Given the description of an element on the screen output the (x, y) to click on. 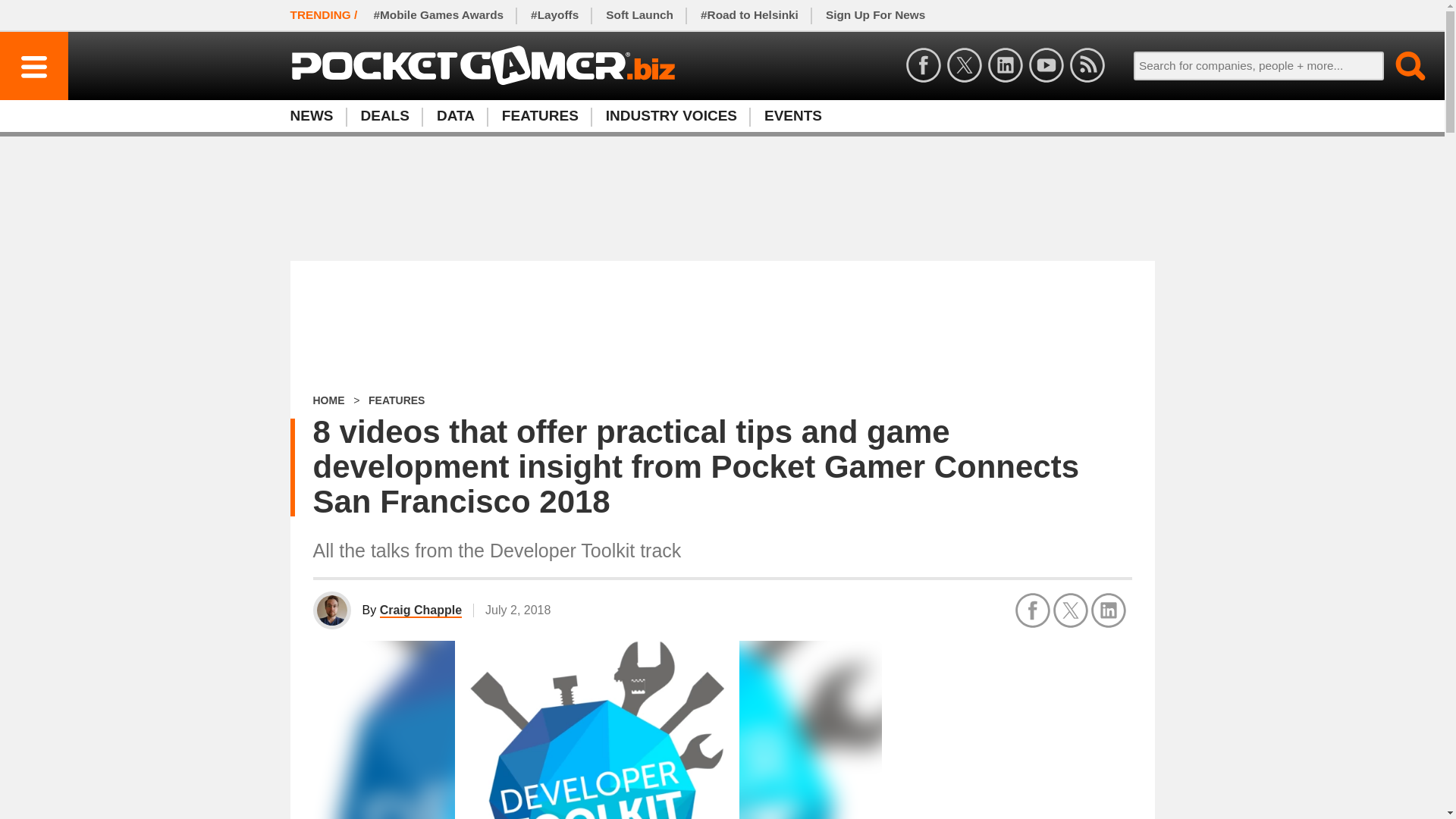
HOME (328, 400)
DATA (455, 115)
Sign Up For News (721, 115)
INDUSTRY VOICES (875, 15)
DEALS (671, 115)
Soft Launch (385, 115)
NEWS (639, 15)
EVENTS (317, 115)
FEATURES (793, 115)
Craig Chapple (396, 400)
Go (420, 610)
Go (1402, 65)
FEATURES (1402, 65)
